Given the description of an element on the screen output the (x, y) to click on. 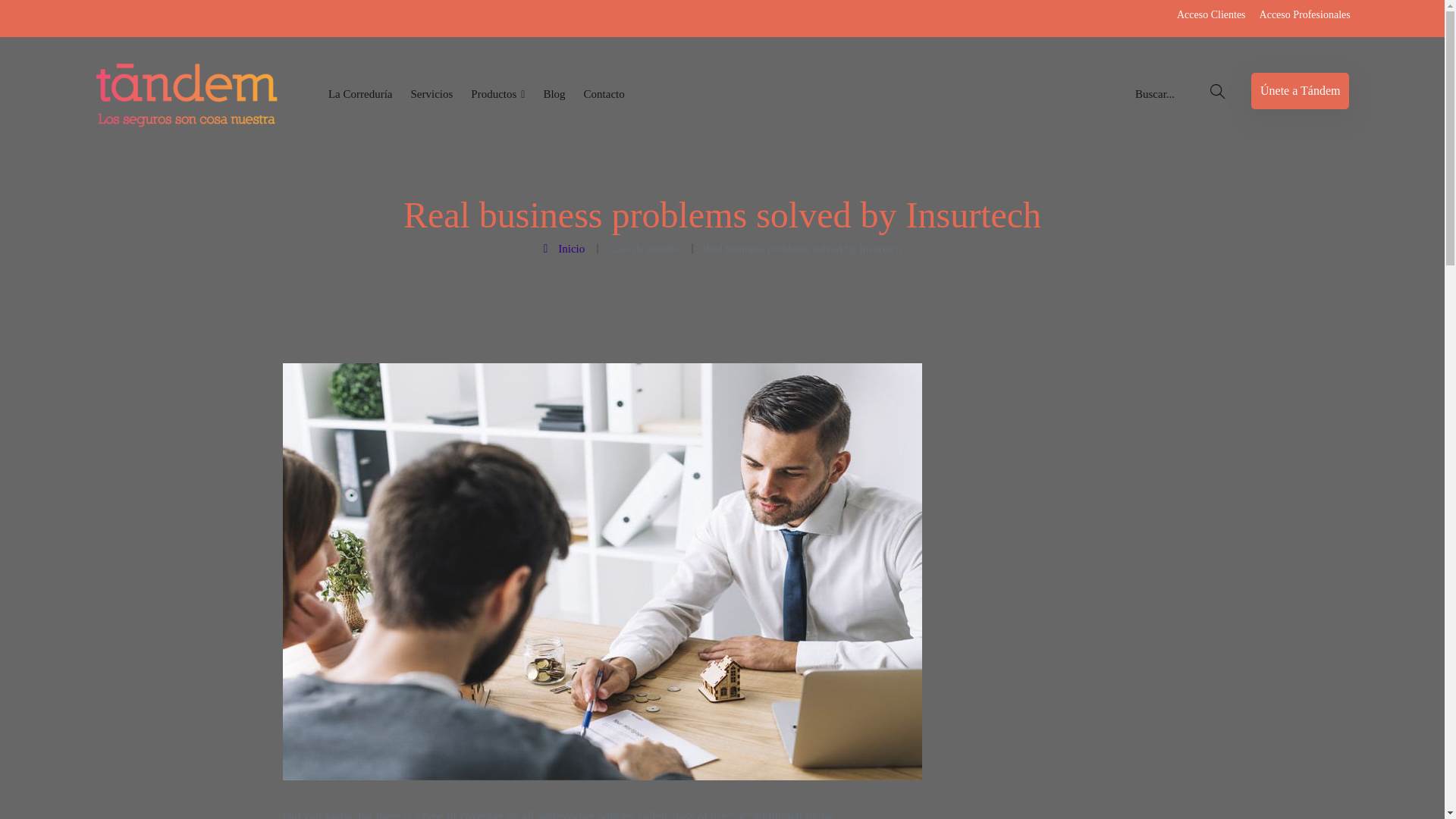
Inicio (565, 247)
Servicios (431, 94)
Inicio (565, 247)
Contacto (603, 94)
Caso de estudio (644, 247)
Productos (497, 94)
Acceso Profesionales (1305, 14)
Acceso Clientes (1211, 14)
